Given the description of an element on the screen output the (x, y) to click on. 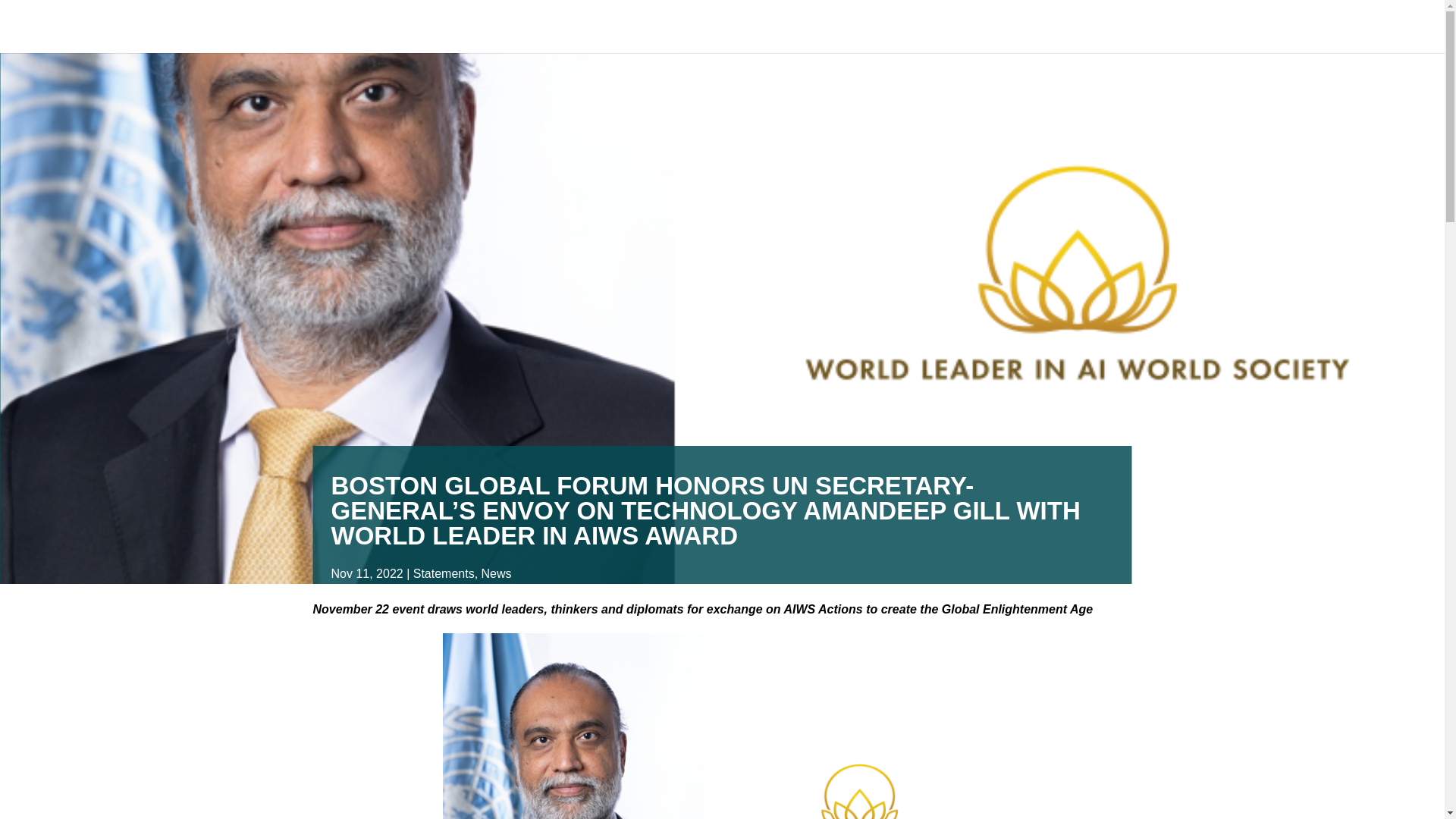
PUBLICATIONS (969, 37)
CONTACT (1068, 37)
EVENTS (779, 37)
LEADERS (697, 37)
ABOUT (619, 37)
INITIATIVES (865, 37)
